Given the description of an element on the screen output the (x, y) to click on. 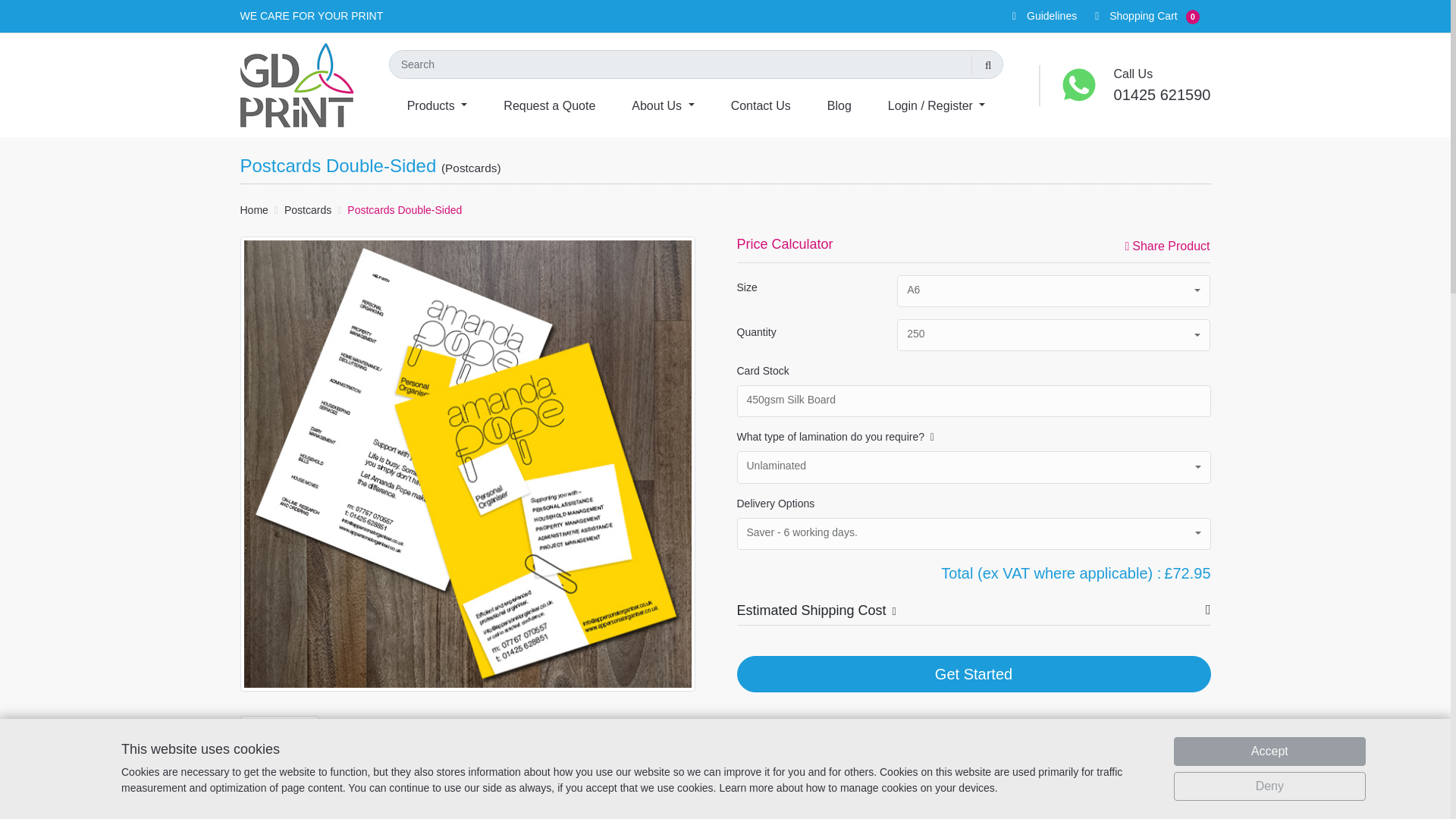
250 (1052, 335)
Saver - 6 working days. (973, 533)
Shopping Cart  0 (1138, 15)
A6 (1052, 291)
450gsm Silk Board (973, 400)
Products (437, 102)
Unlaminated (973, 467)
Guidelines (1035, 15)
